Given the description of an element on the screen output the (x, y) to click on. 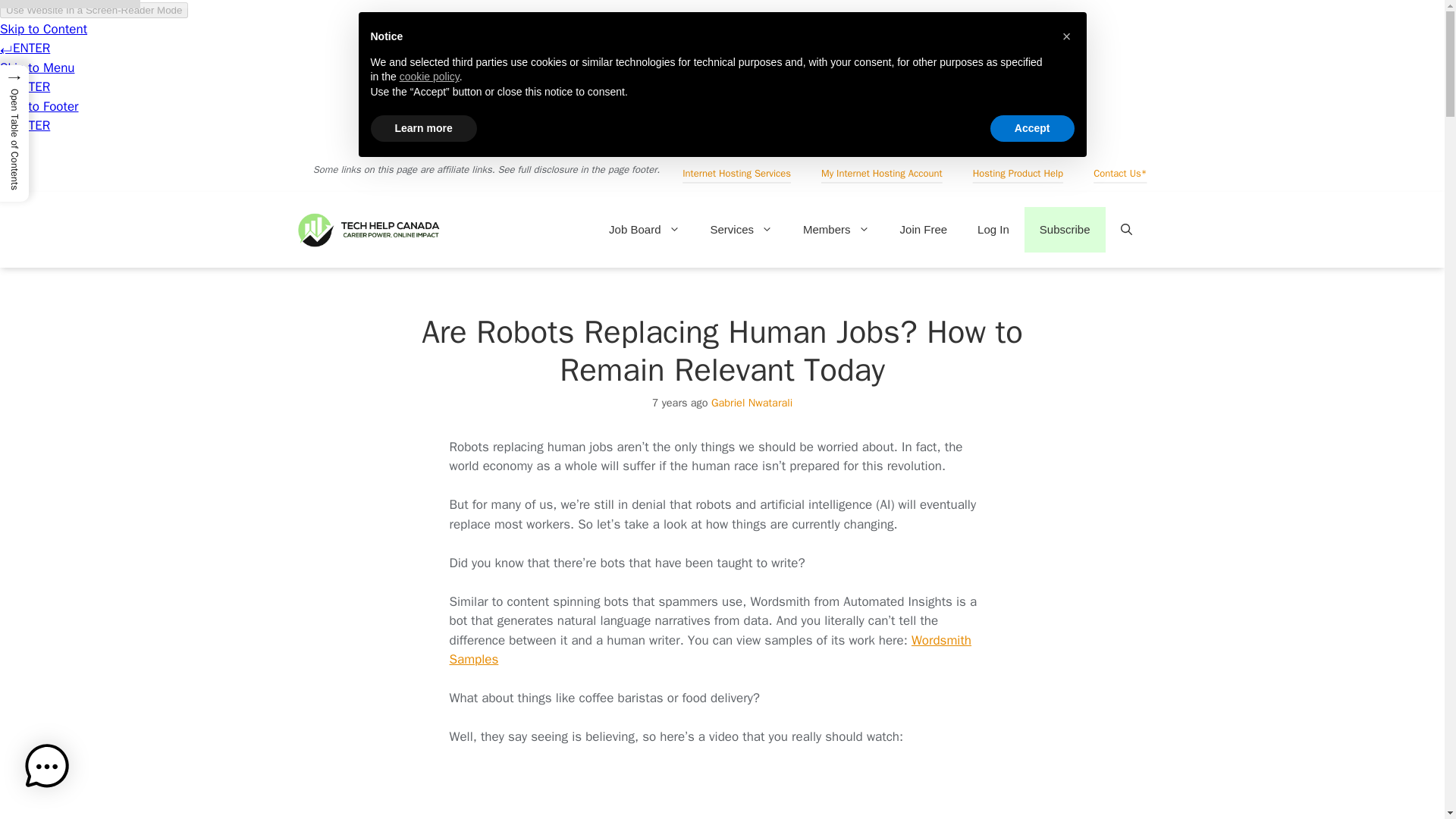
Job Board (644, 229)
Members (836, 229)
Gabriel Nwatarali (751, 402)
Services (740, 229)
Join Free (923, 229)
Wordsmith Samples (709, 650)
My Internet Hosting Account (882, 173)
Log In (993, 229)
Hosting Product Help (1018, 173)
Subscribe (1065, 229)
Gabriel Nwatarali (751, 402)
Internet Hosting Services (736, 173)
